Given the description of an element on the screen output the (x, y) to click on. 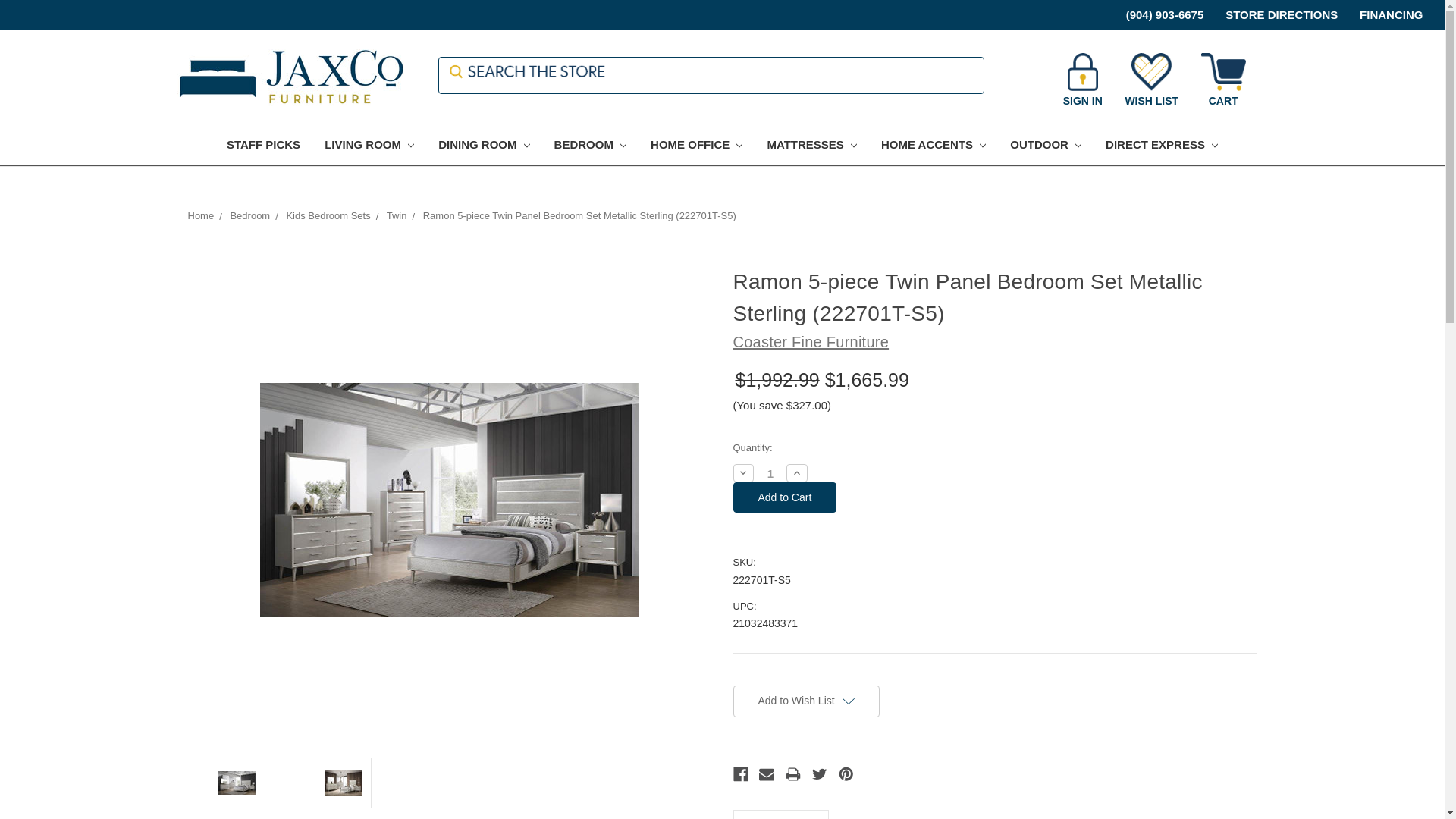
JaxCo Furniture (289, 77)
STORE DIRECTIONS (1272, 14)
WISH LIST (1150, 80)
LIVING ROOM (369, 145)
Add to Cart (783, 497)
DINING ROOM (483, 145)
BEDROOM (590, 145)
1 (770, 472)
STAFF PICKS (263, 145)
FINANCING (1381, 14)
